Given the description of an element on the screen output the (x, y) to click on. 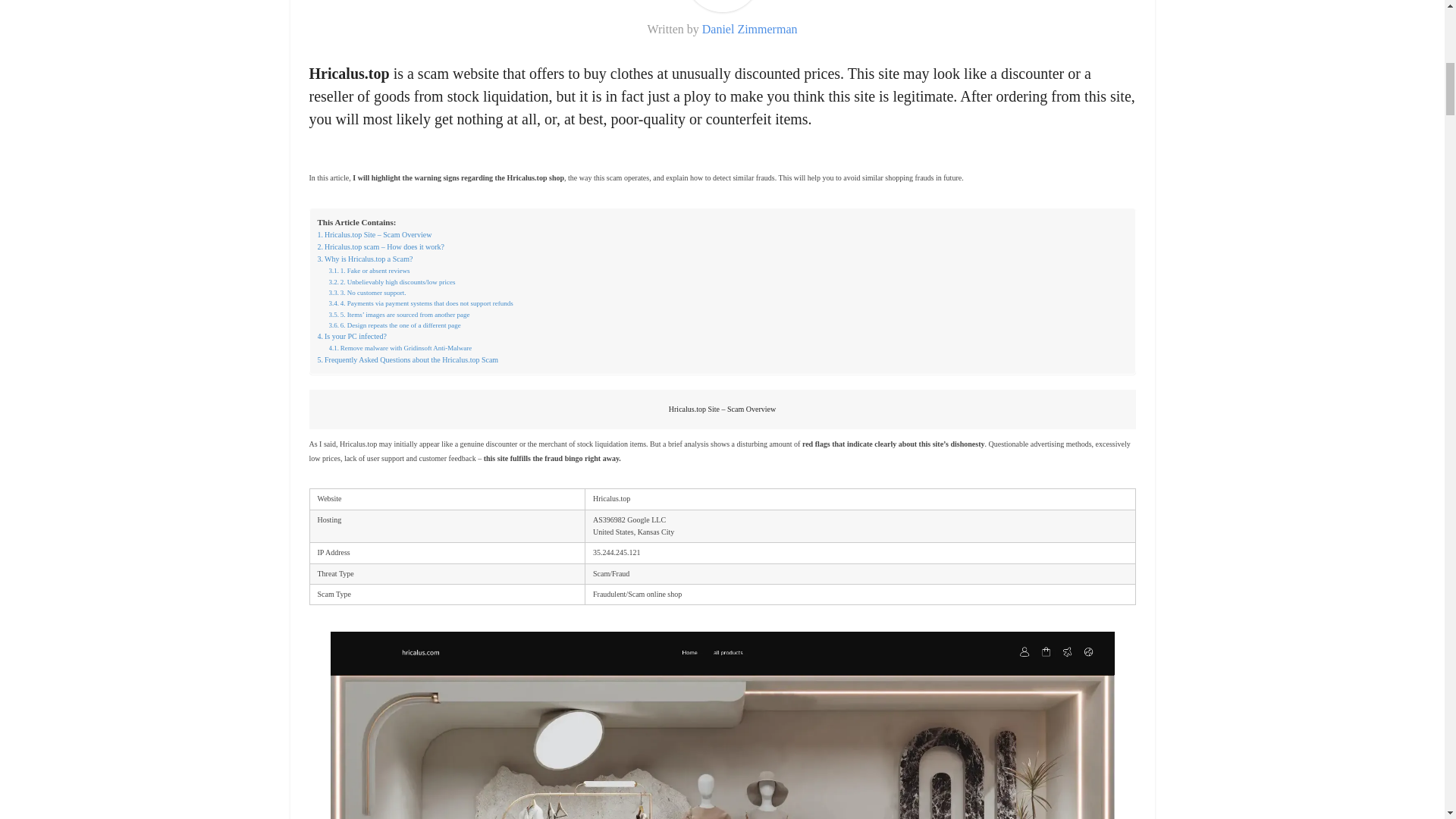
6. Design repeats the one of a different page (395, 325)
Frequently Asked Questions about the Hricalus.top Scam (407, 359)
3. No customer support. (367, 292)
Why is Hricalus.top a Scam? (364, 259)
6. Design repeats the one of a different page (395, 325)
1. Fake or absent reviews (369, 270)
1. Fake or absent reviews (369, 270)
Is your PC infected? (351, 336)
3. No customer support. (367, 292)
